Given the description of an element on the screen output the (x, y) to click on. 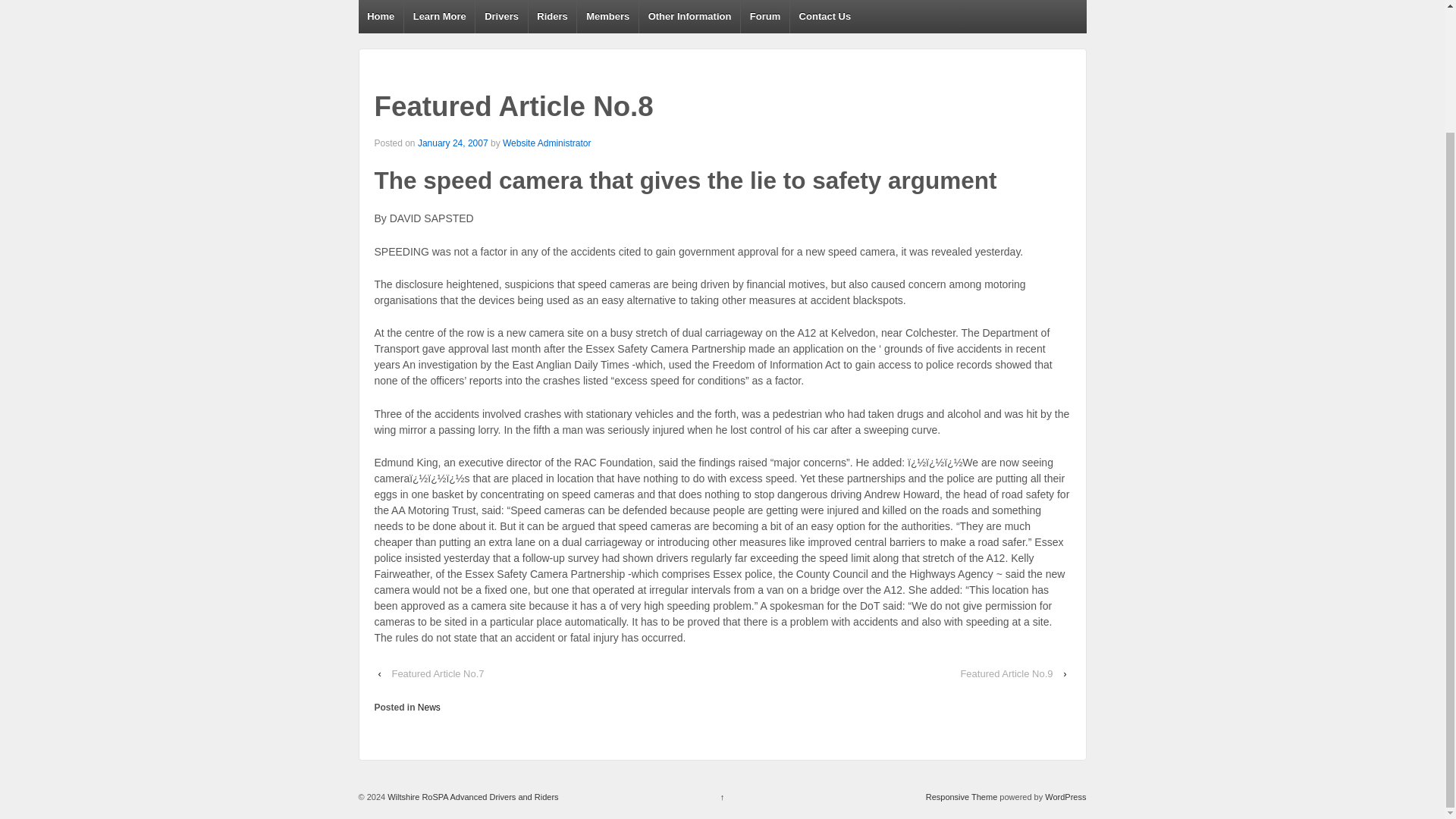
Responsive Theme (961, 796)
Riders (551, 16)
Drivers (500, 16)
Featured Article No.7 (438, 673)
Wiltshire RoSPA Advanced Drivers and Riders (471, 796)
Other Information (689, 16)
Learn More (438, 16)
Members (606, 16)
News (429, 706)
Website Administrator (546, 143)
Responsive Theme (961, 796)
View all posts by Website Administrator (546, 143)
WordPress (1065, 796)
Contact Us (824, 16)
Home (380, 16)
